Given the description of an element on the screen output the (x, y) to click on. 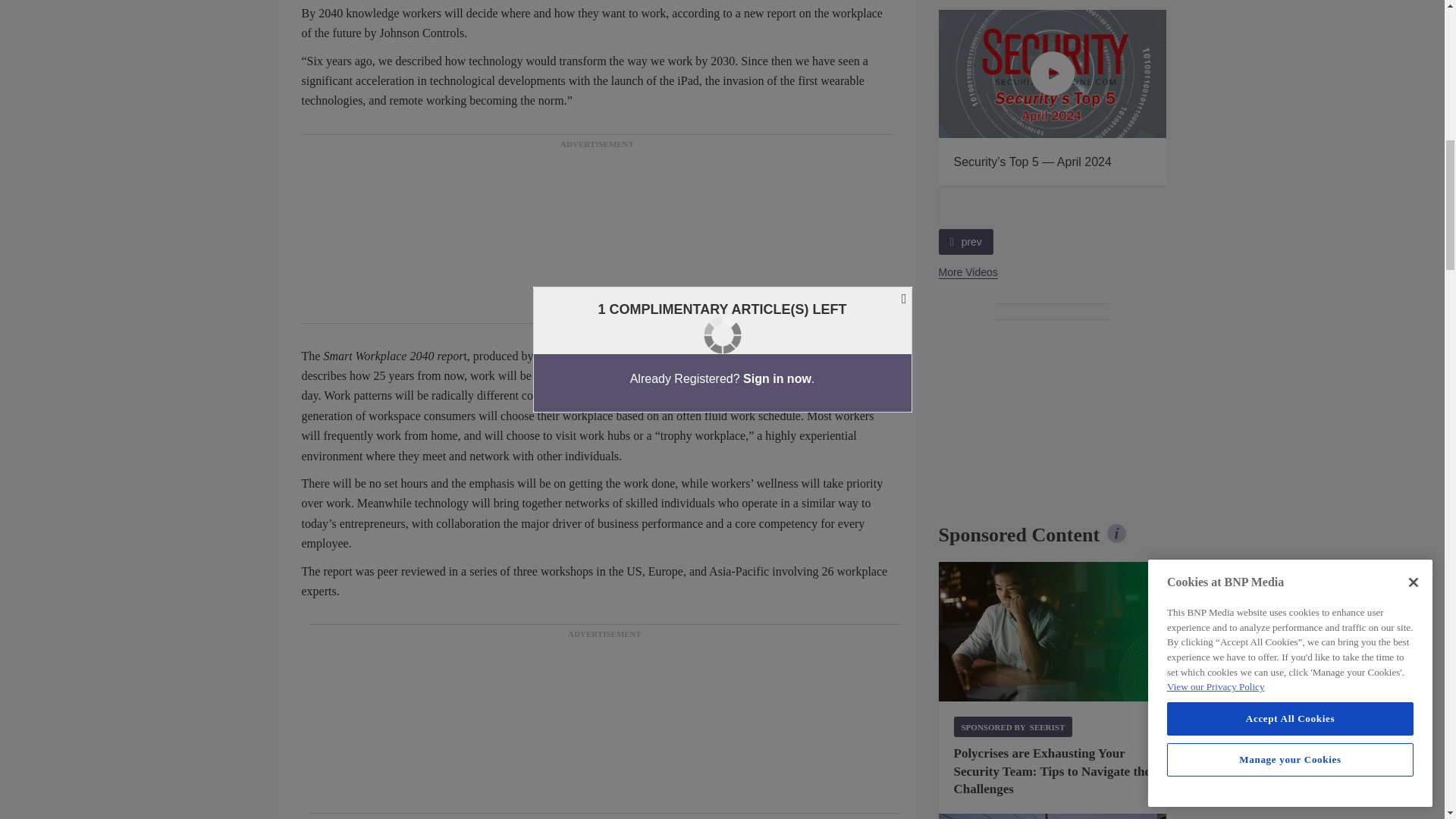
AMAROK Security Gate (1052, 816)
Threat management (1052, 631)
Sponsored by Seerist (1013, 726)
